Given the description of an element on the screen output the (x, y) to click on. 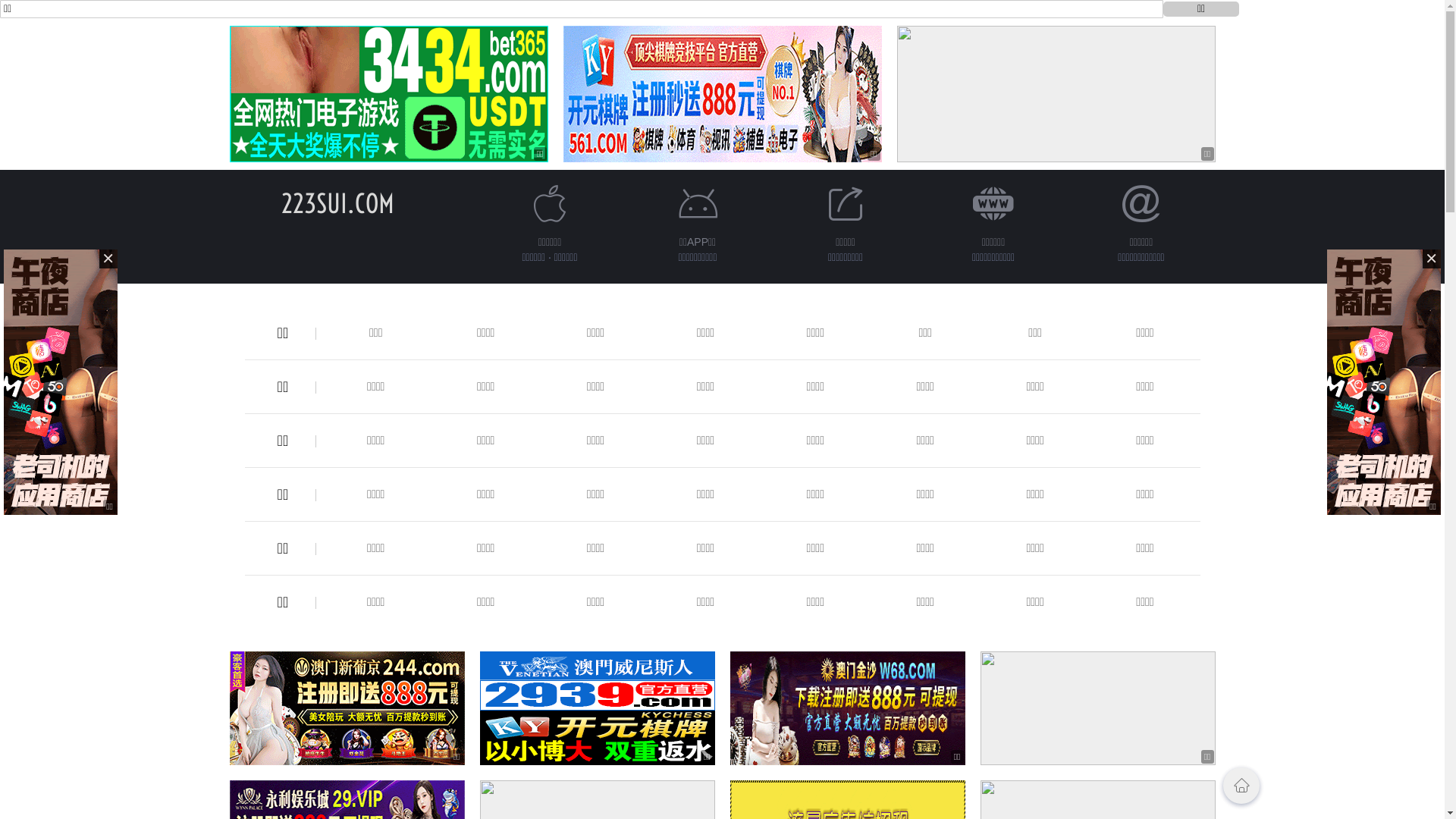
223SUI.COM Element type: text (337, 203)
